Given the description of an element on the screen output the (x, y) to click on. 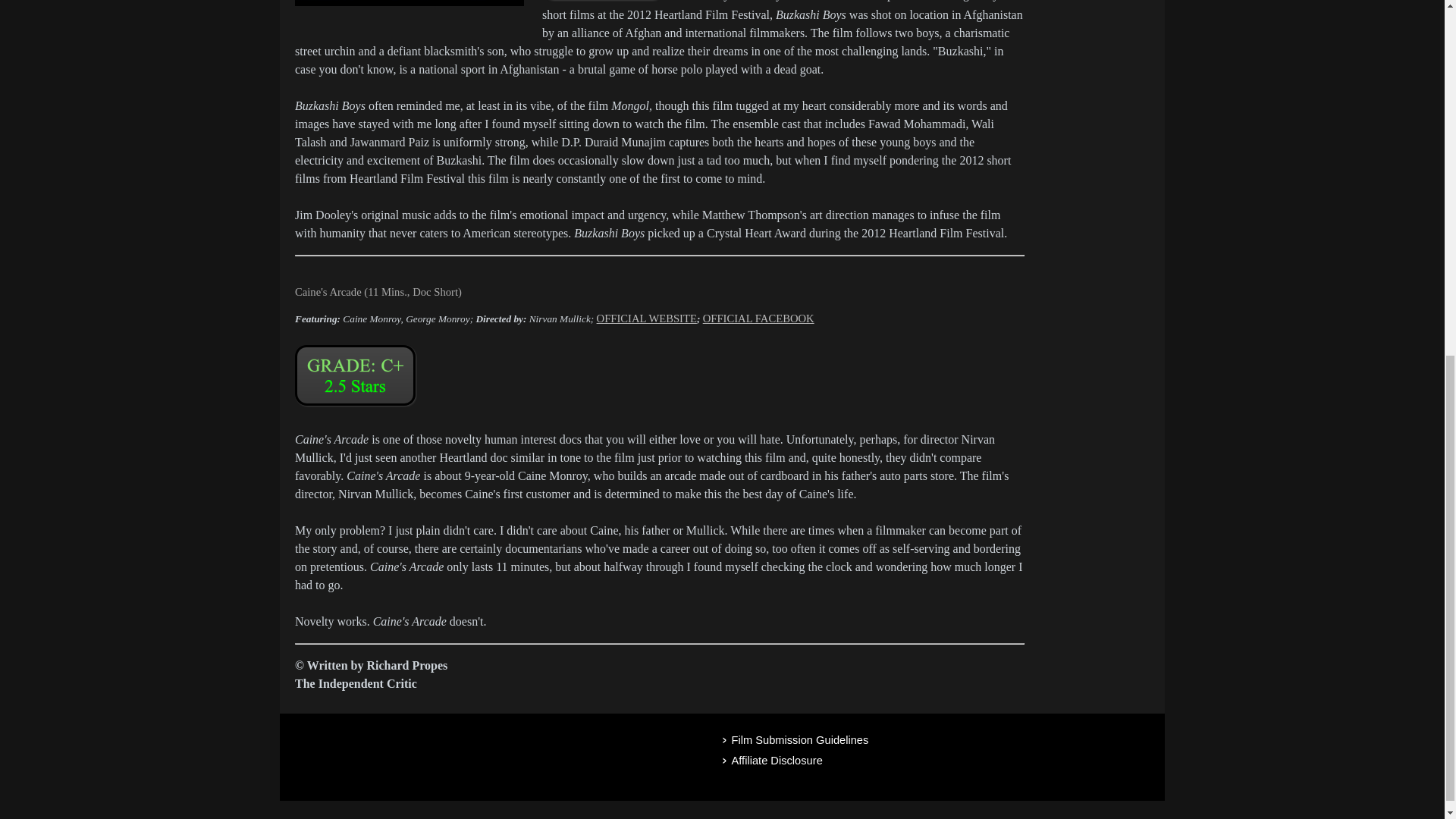
Affiliate Disclosure (937, 760)
OFFICIAL WEBSITE (646, 318)
Film Submission Guidelines (937, 740)
OFFICIAL FACEBOOK (758, 318)
